Given the description of an element on the screen output the (x, y) to click on. 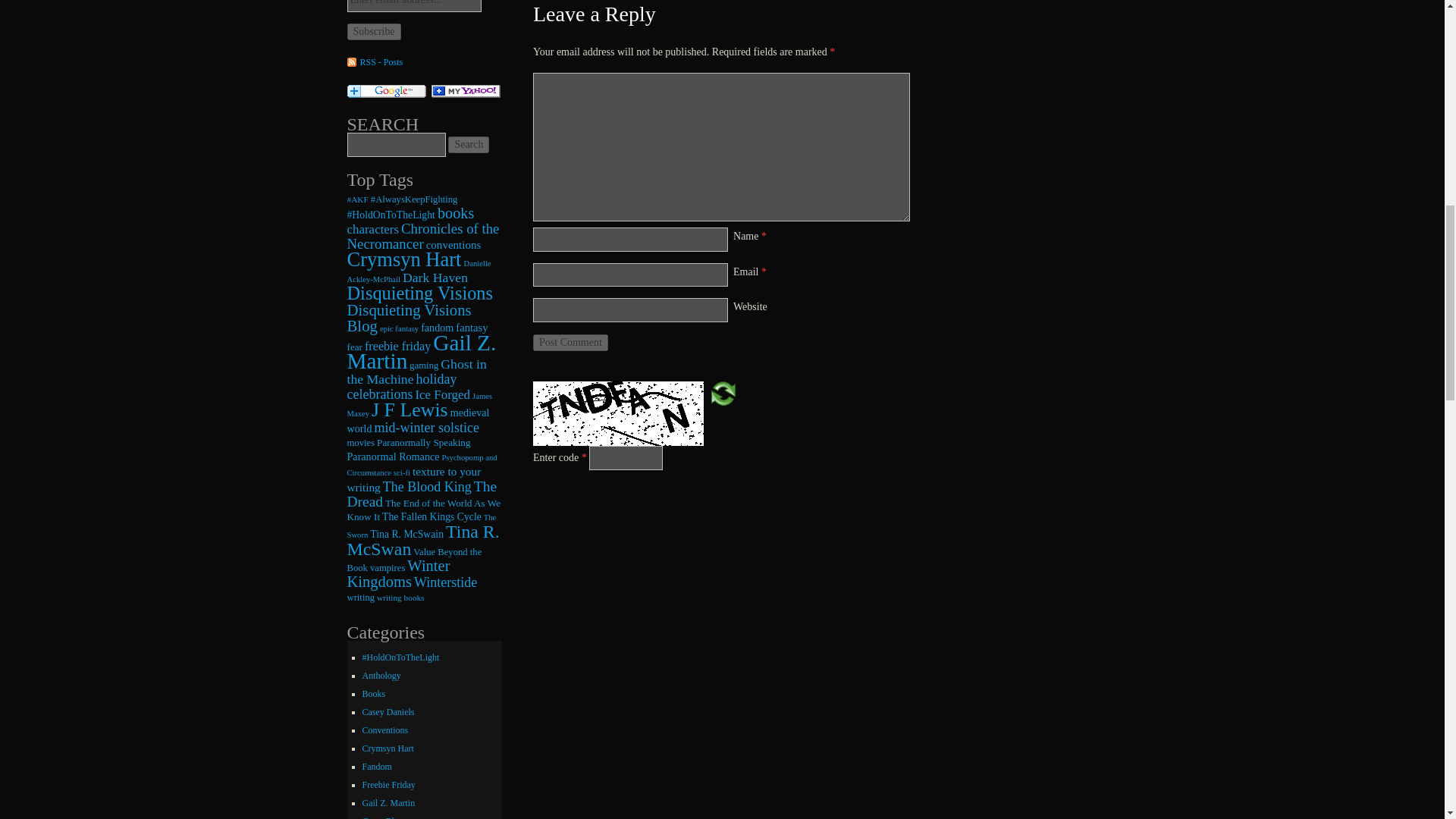
Post Comment (570, 342)
Enter email address... (414, 6)
characters (372, 228)
Disquieting Visions Blog (409, 317)
Post Comment (570, 342)
Refresh Image (723, 392)
Search (468, 144)
Subscribe (374, 31)
fear (354, 346)
epic fantasy (399, 328)
freebie friday (397, 345)
Subscribe (374, 31)
conventions (453, 244)
Search (468, 144)
RSS - Posts (375, 62)
